Given the description of an element on the screen output the (x, y) to click on. 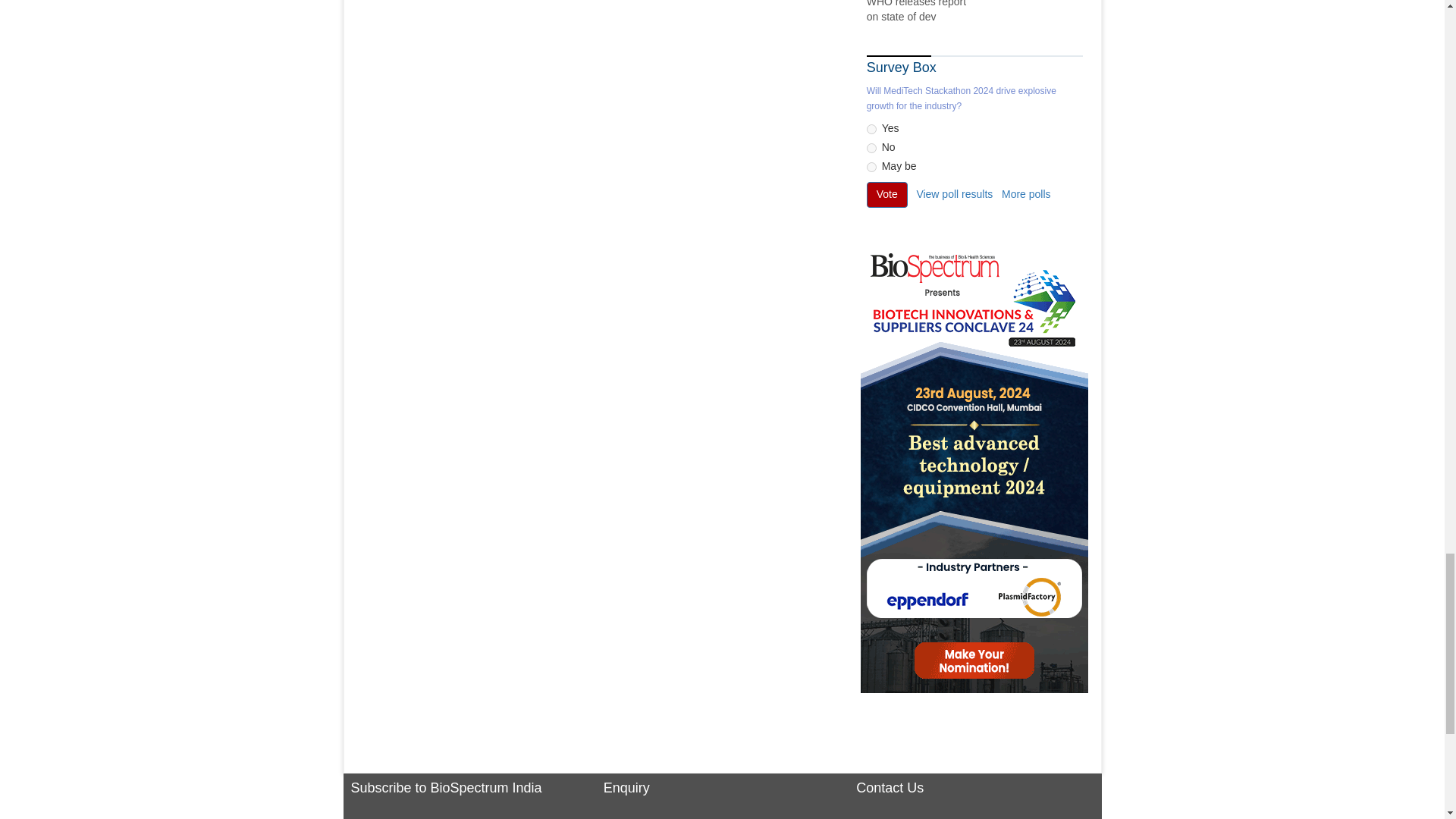
220 (871, 166)
218 (871, 129)
219 (871, 148)
